Given the description of an element on the screen output the (x, y) to click on. 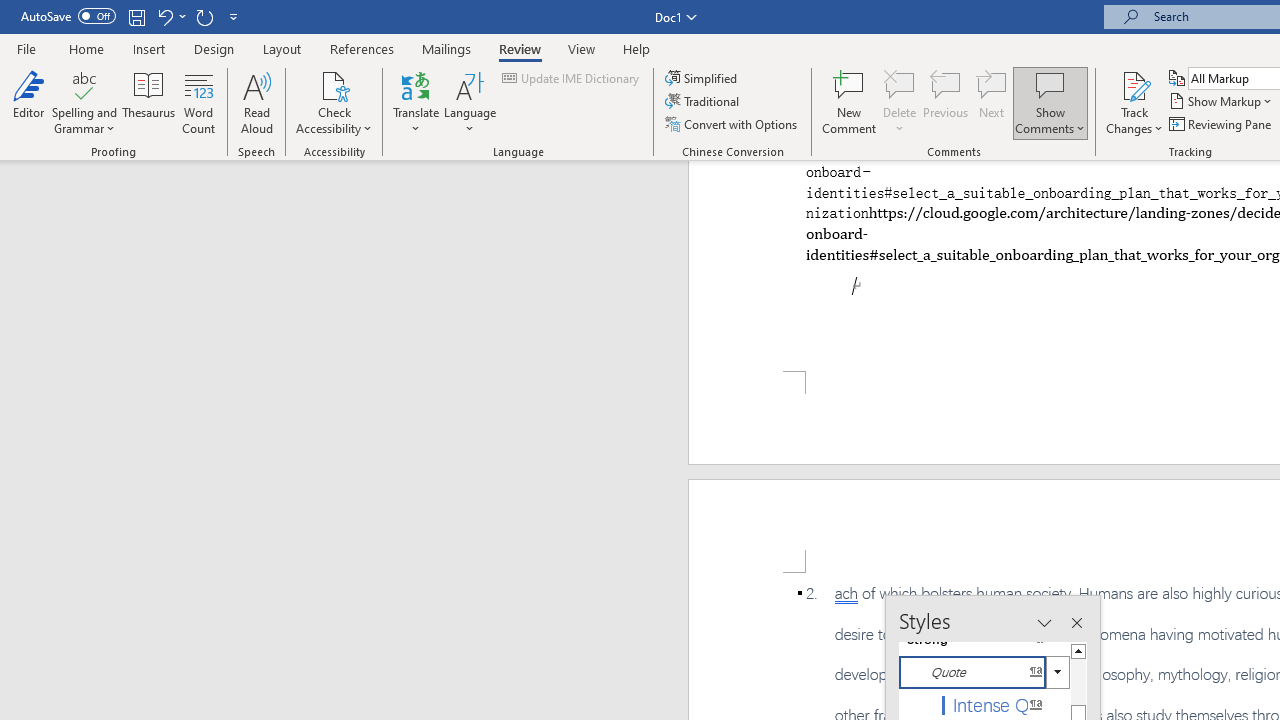
Update IME Dictionary... (572, 78)
Show Comments (1050, 84)
Repeat Style (204, 15)
Delete (900, 84)
Reviewing Pane (1221, 124)
Convert with Options... (732, 124)
Traditional (703, 101)
Thesaurus... (148, 102)
Quote (984, 672)
